Given the description of an element on the screen output the (x, y) to click on. 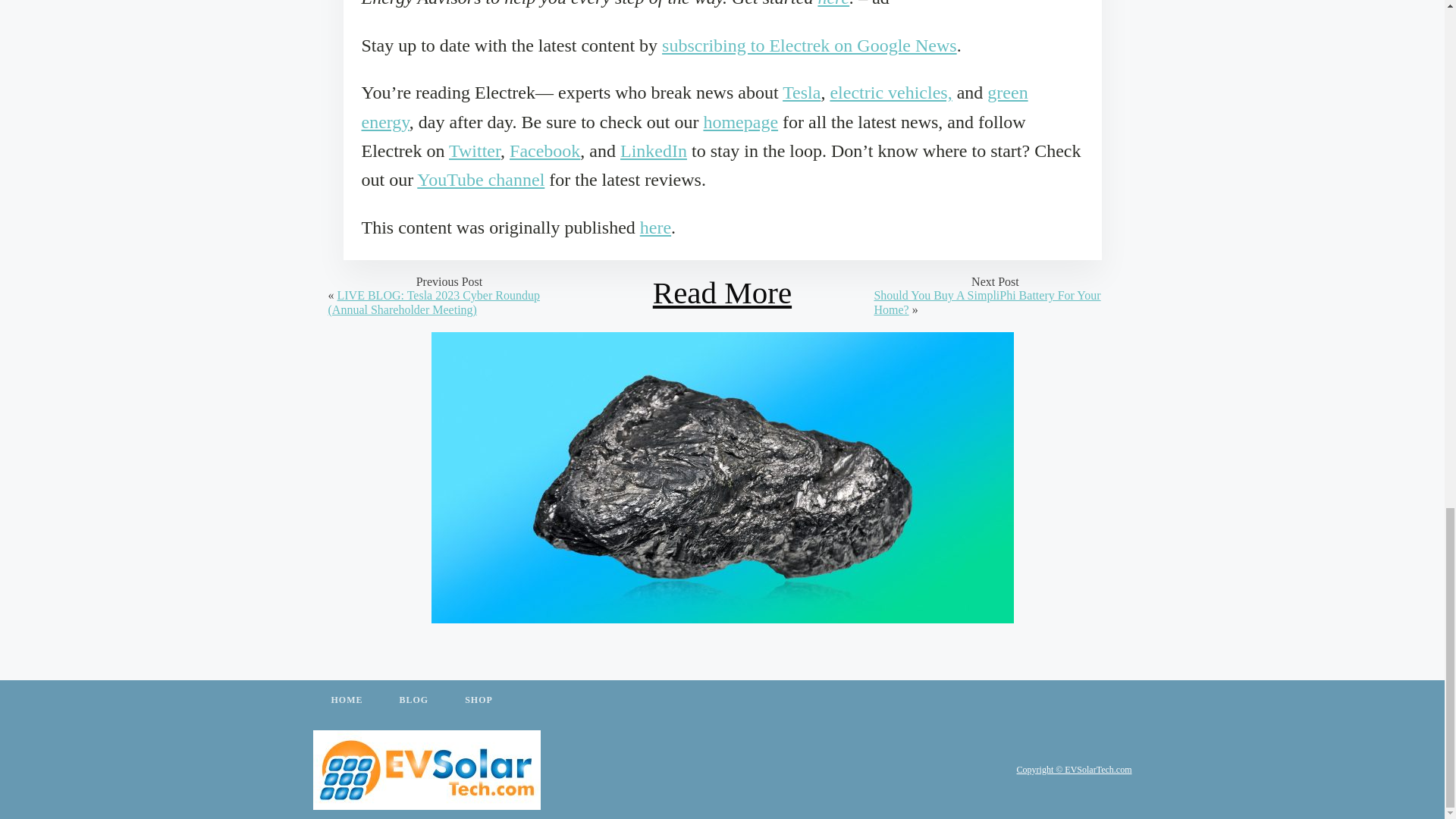
HOME (346, 700)
YouTube channel (480, 179)
SHOP (478, 700)
here (832, 3)
electric vehicles, (890, 92)
Facebook (544, 150)
Read More (722, 293)
LinkedIn (653, 150)
BLOG (413, 700)
subscribing to Electrek on Google News (809, 45)
here (655, 227)
Should You Buy A SimpliPhi Battery For Your Home? (986, 302)
homepage (740, 121)
Tesla (802, 92)
green energy (694, 106)
